Given the description of an element on the screen output the (x, y) to click on. 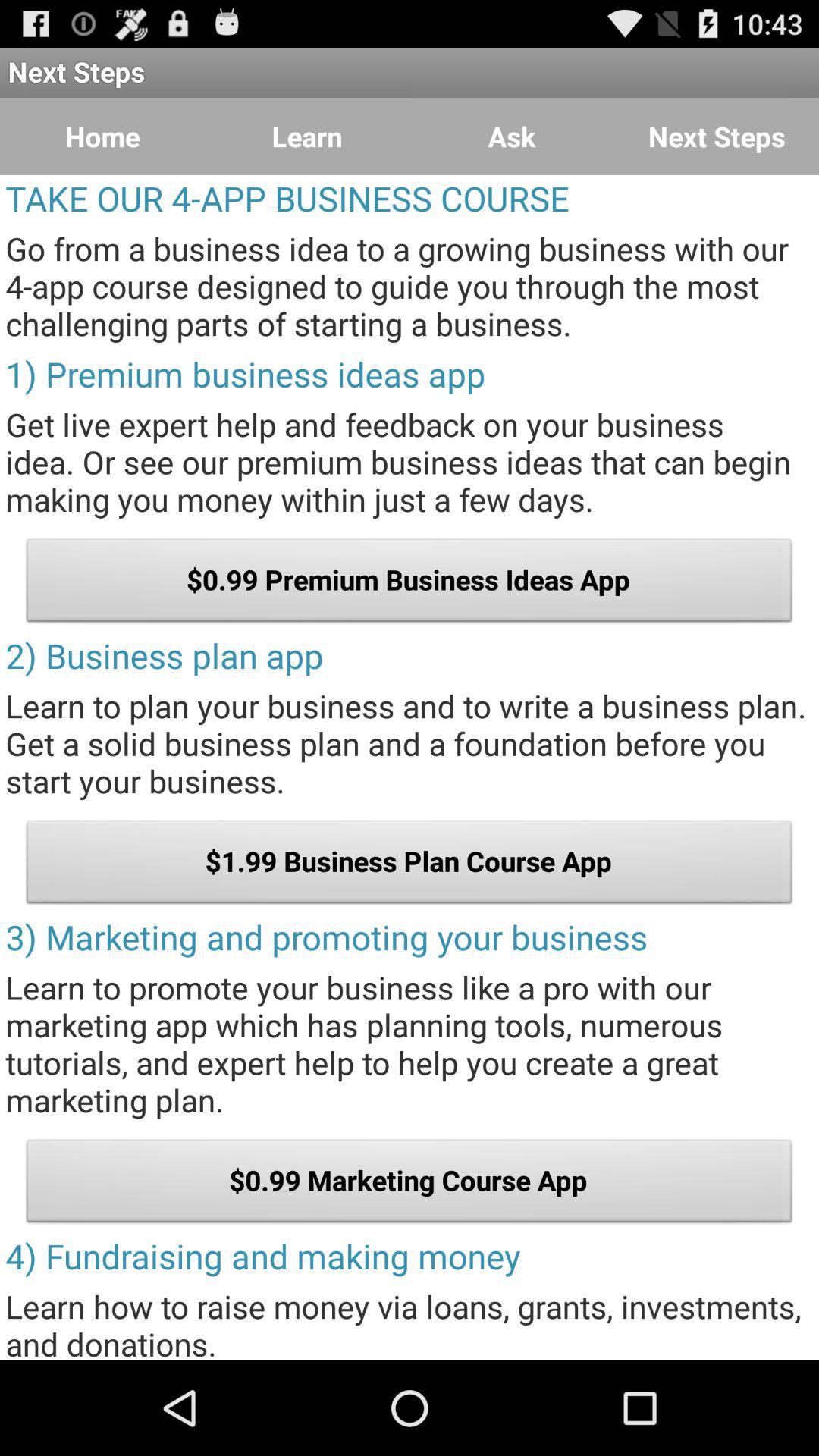
launch the icon at the top left corner (102, 136)
